Given the description of an element on the screen output the (x, y) to click on. 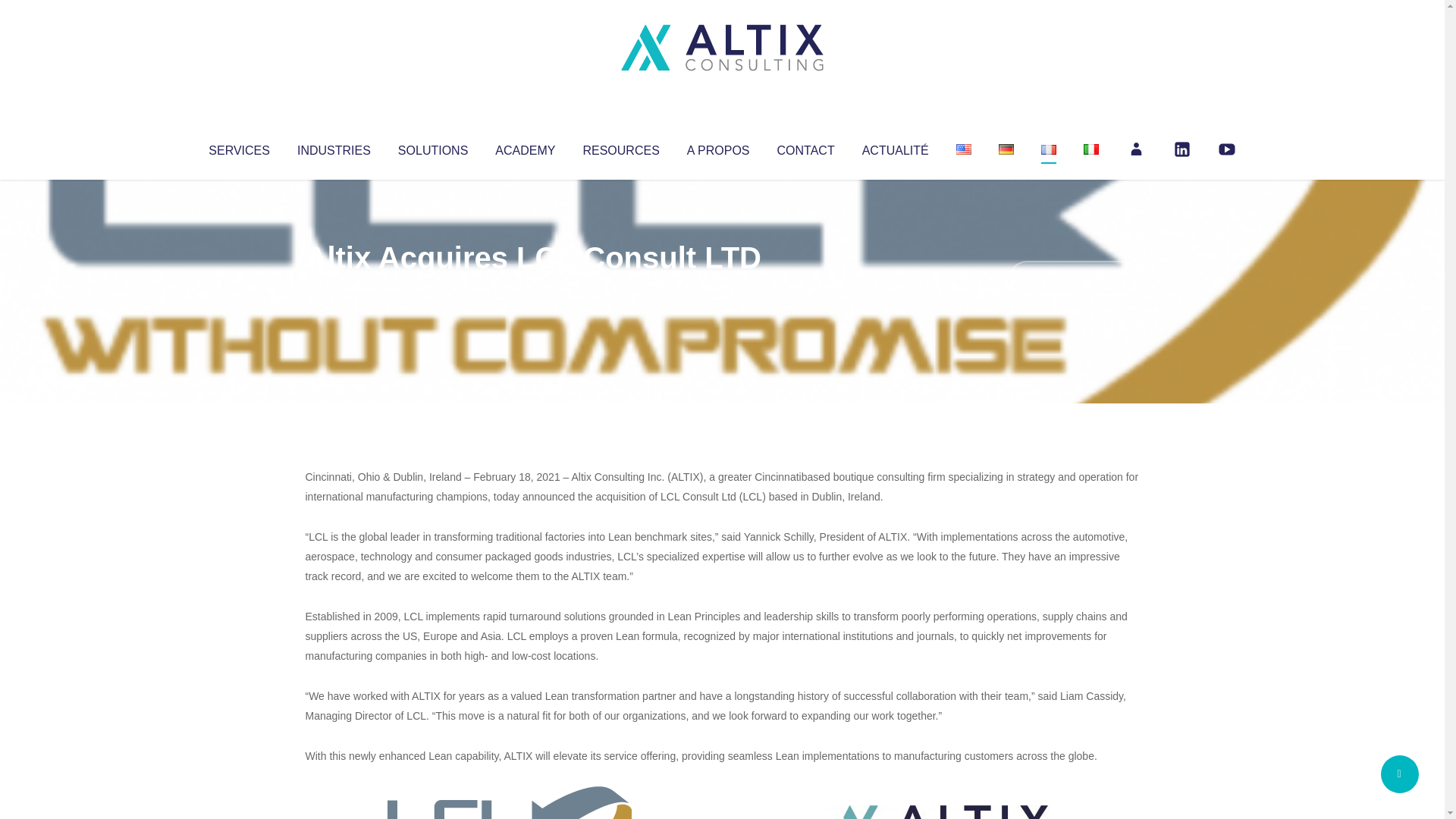
A PROPOS (718, 146)
Altix (333, 287)
SERVICES (238, 146)
RESOURCES (620, 146)
SOLUTIONS (432, 146)
Articles par Altix (333, 287)
Uncategorized (530, 287)
No Comments (1073, 278)
INDUSTRIES (334, 146)
ACADEMY (524, 146)
